Given the description of an element on the screen output the (x, y) to click on. 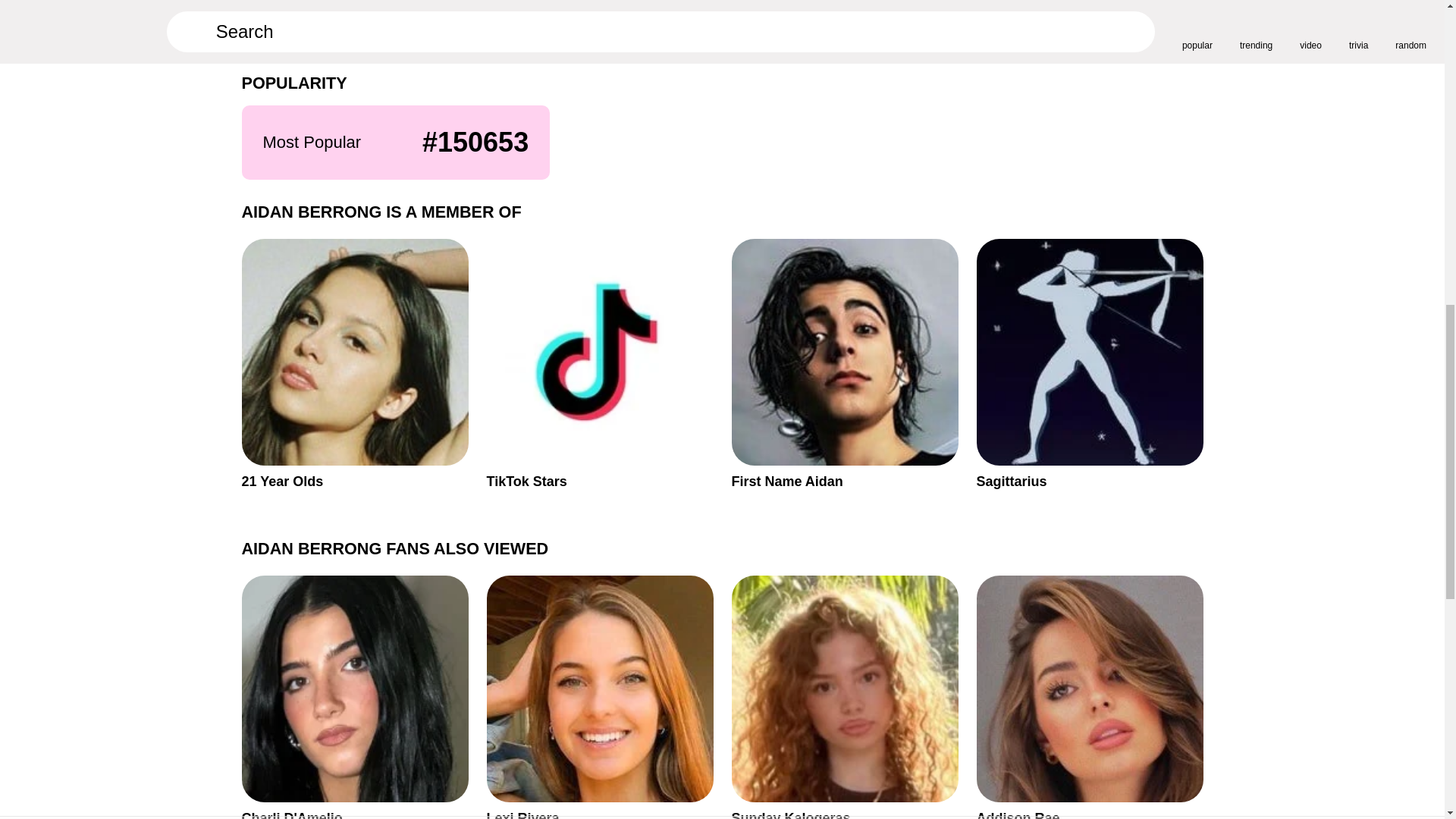
Sagittarius (1090, 364)
TikTok Stars (599, 364)
K Camp (844, 697)
First Name Aidan (354, 697)
21 Year Olds (1090, 697)
